Given the description of an element on the screen output the (x, y) to click on. 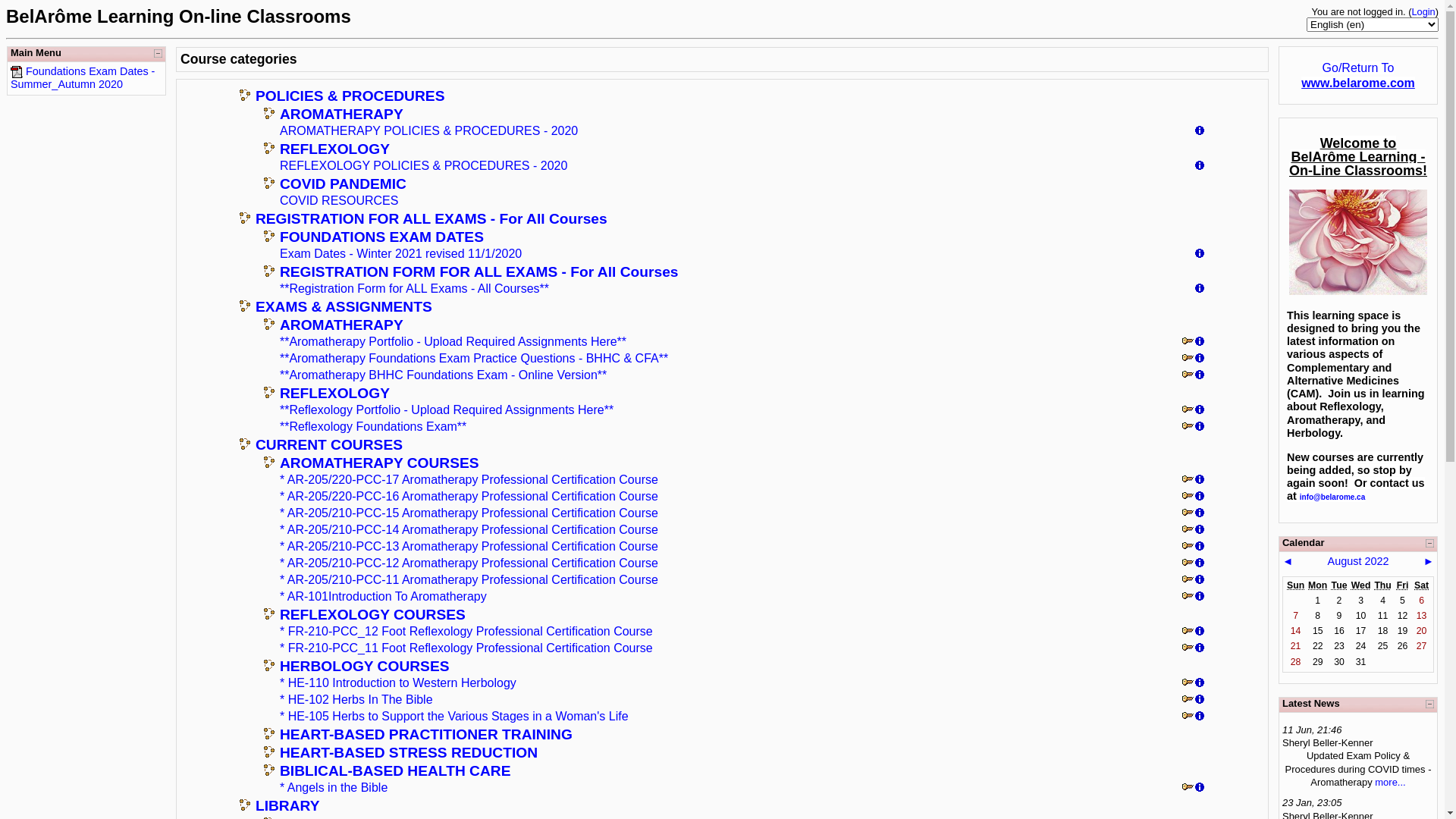
* HE-110 Introduction to Western Herbology Element type: text (397, 682)
AROMATHERAPY COURSES Element type: text (379, 462)
AROMATHERAPY Element type: text (341, 114)
This course requires an enrolment key Element type: hover (1187, 410)
This course requires an enrolment key Element type: hover (1187, 700)
Summary Element type: hover (1199, 530)
**Reflexology Foundations Exam** Element type: text (372, 426)
Exam Dates - Winter 2021 revised 11/1/2020 Element type: text (400, 253)
Foundations Exam Dates - Summer_Autumn 2020 Element type: text (82, 77)
This course requires an enrolment key Element type: hover (1187, 632)
REFLEXOLOGY COURSES Element type: text (372, 614)
This course requires an enrolment key Element type: hover (1187, 530)
HEART-BASED STRESS REDUCTION Element type: text (408, 752)
REGISTRATION FOR ALL EXAMS - For All Courses Element type: text (431, 218)
Summary Element type: hover (1199, 580)
Hide Calendar block Element type: hover (1429, 543)
FOUNDATIONS EXAM DATES Element type: text (381, 236)
Summary Element type: hover (1199, 700)
Hide Main Menu block Element type: hover (157, 53)
COVID PANDEMIC Element type: text (342, 183)
REFLEXOLOGY Element type: text (334, 148)
This course requires an enrolment key Element type: hover (1187, 788)
COVID RESOURCES Element type: text (338, 200)
Summary Element type: hover (1199, 564)
HEART-BASED PRACTITIONER TRAINING Element type: text (425, 734)
**Registration Form for ALL Exams - All Courses** Element type: text (414, 288)
This course requires an enrolment key Element type: hover (1187, 580)
CURRENT COURSES Element type: text (328, 444)
This course requires an enrolment key Element type: hover (1187, 342)
This course requires an enrolment key Element type: hover (1187, 514)
This course requires an enrolment key Element type: hover (1187, 427)
AROMATHERAPY Element type: text (341, 324)
BIBLICAL-BASED HEALTH CARE Element type: text (395, 770)
**Reflexology Portfolio - Upload Required Assignments Here** Element type: text (446, 409)
This course requires an enrolment key Element type: hover (1187, 717)
Summary Element type: hover (1199, 497)
This course requires an enrolment key Element type: hover (1187, 480)
**Aromatherapy BHHC Foundations Exam - Online Version** Element type: text (442, 374)
Summary Element type: hover (1199, 683)
This course requires an enrolment key Element type: hover (1187, 564)
REFLEXOLOGY Element type: text (334, 393)
Summary Element type: hover (1199, 717)
This course requires an enrolment key Element type: hover (1187, 376)
AROMATHERAPY POLICIES & PROCEDURES - 2020 Element type: text (428, 130)
Summary Element type: hover (1199, 131)
This course requires an enrolment key Element type: hover (1187, 597)
Hide Latest News block Element type: hover (1429, 703)
Summary Element type: hover (1199, 649)
Summary Element type: hover (1199, 166)
Summary Element type: hover (1199, 427)
Flower Element type: hover (1358, 241)
This course requires an enrolment key Element type: hover (1187, 497)
This course requires an enrolment key Element type: hover (1187, 649)
* Angels in the Bible Element type: text (333, 787)
REGISTRATION FORM FOR ALL EXAMS - For All Courses Element type: text (478, 271)
Summary Element type: hover (1199, 514)
Summary Element type: hover (1199, 547)
Summary Element type: hover (1199, 632)
more... Element type: text (1389, 781)
* HE-102 Herbs In The Bible Element type: text (356, 699)
POLICIES & PROCEDURES Element type: text (349, 95)
Summary Element type: hover (1199, 597)
REFLEXOLOGY POLICIES & PROCEDURES - 2020 Element type: text (423, 165)
HERBOLOGY COURSES Element type: text (364, 666)
LIBRARY Element type: text (287, 805)
This course requires an enrolment key Element type: hover (1187, 683)
Summary Element type: hover (1199, 359)
Summary Element type: hover (1199, 788)
Summary Element type: hover (1199, 342)
Login Element type: text (1422, 11)
Go/Return To
www.belarome.com Element type: text (1358, 74)
Summary Element type: hover (1199, 289)
info@belarome.ca Element type: text (1332, 495)
Summary Element type: hover (1199, 410)
August 2022 Element type: text (1358, 561)
* AR-101Introduction To Aromatherapy Element type: text (382, 595)
This course requires an enrolment key Element type: hover (1187, 359)
Summary Element type: hover (1199, 480)
Summary Element type: hover (1199, 376)
This course requires an enrolment key Element type: hover (1187, 547)
Summary Element type: hover (1199, 254)
EXAMS & ASSIGNMENTS Element type: text (343, 306)
